Given the description of an element on the screen output the (x, y) to click on. 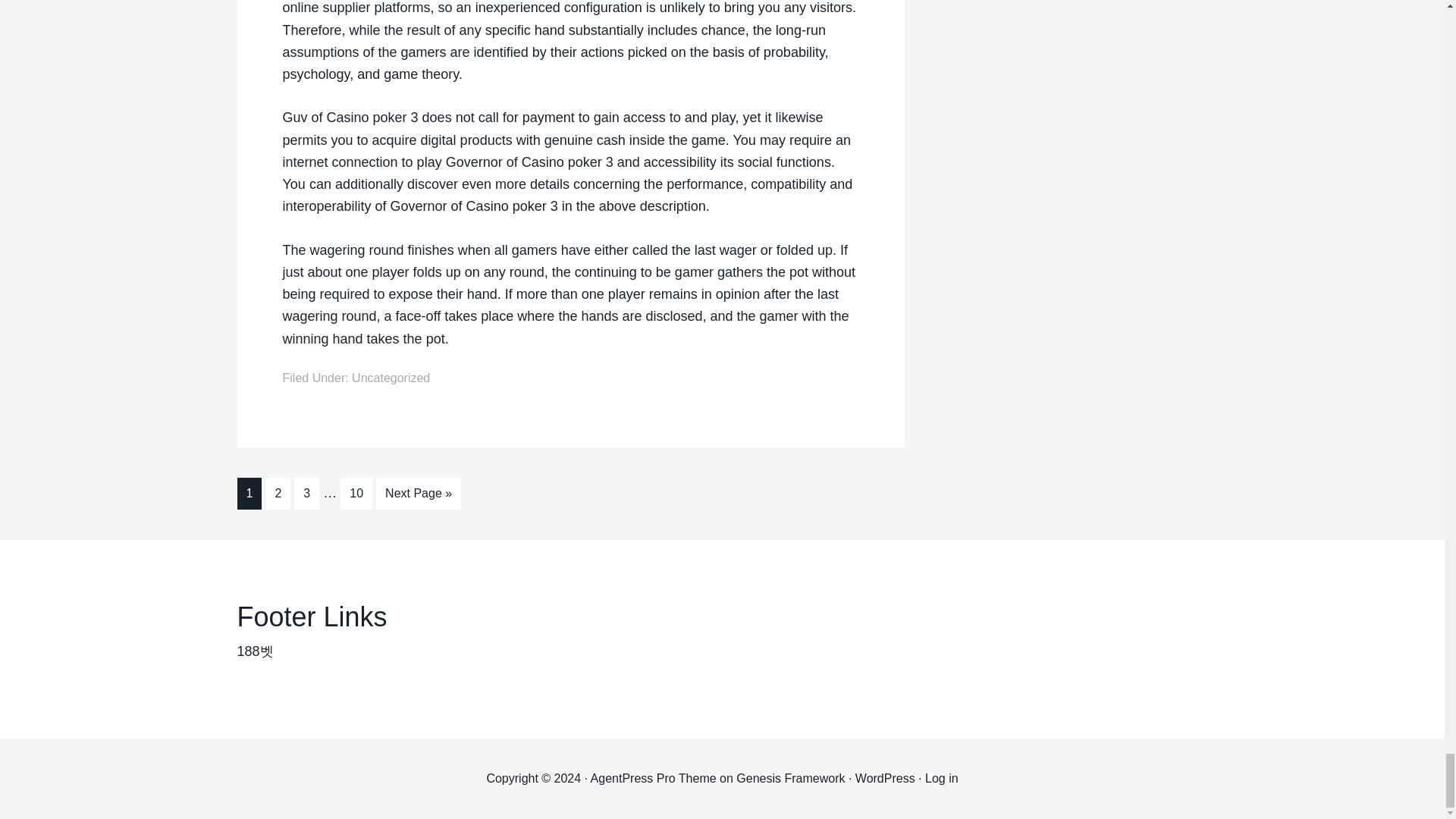
Uncategorized (390, 377)
